Given the description of an element on the screen output the (x, y) to click on. 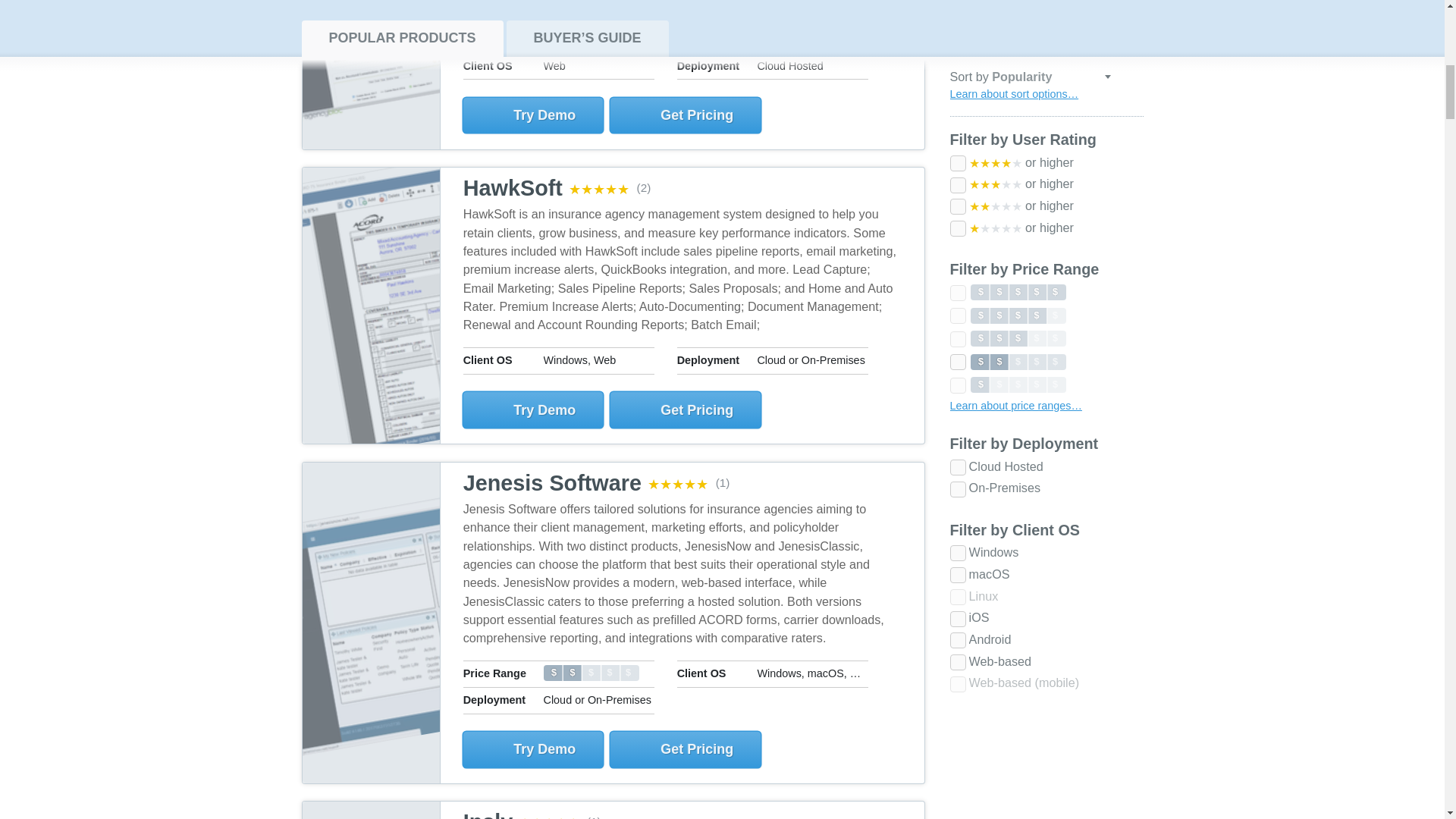
android (957, 141)
windows (957, 54)
macOS (957, 76)
iOS (957, 120)
web (957, 163)
webMobile (957, 186)
linux (957, 98)
